Given the description of an element on the screen output the (x, y) to click on. 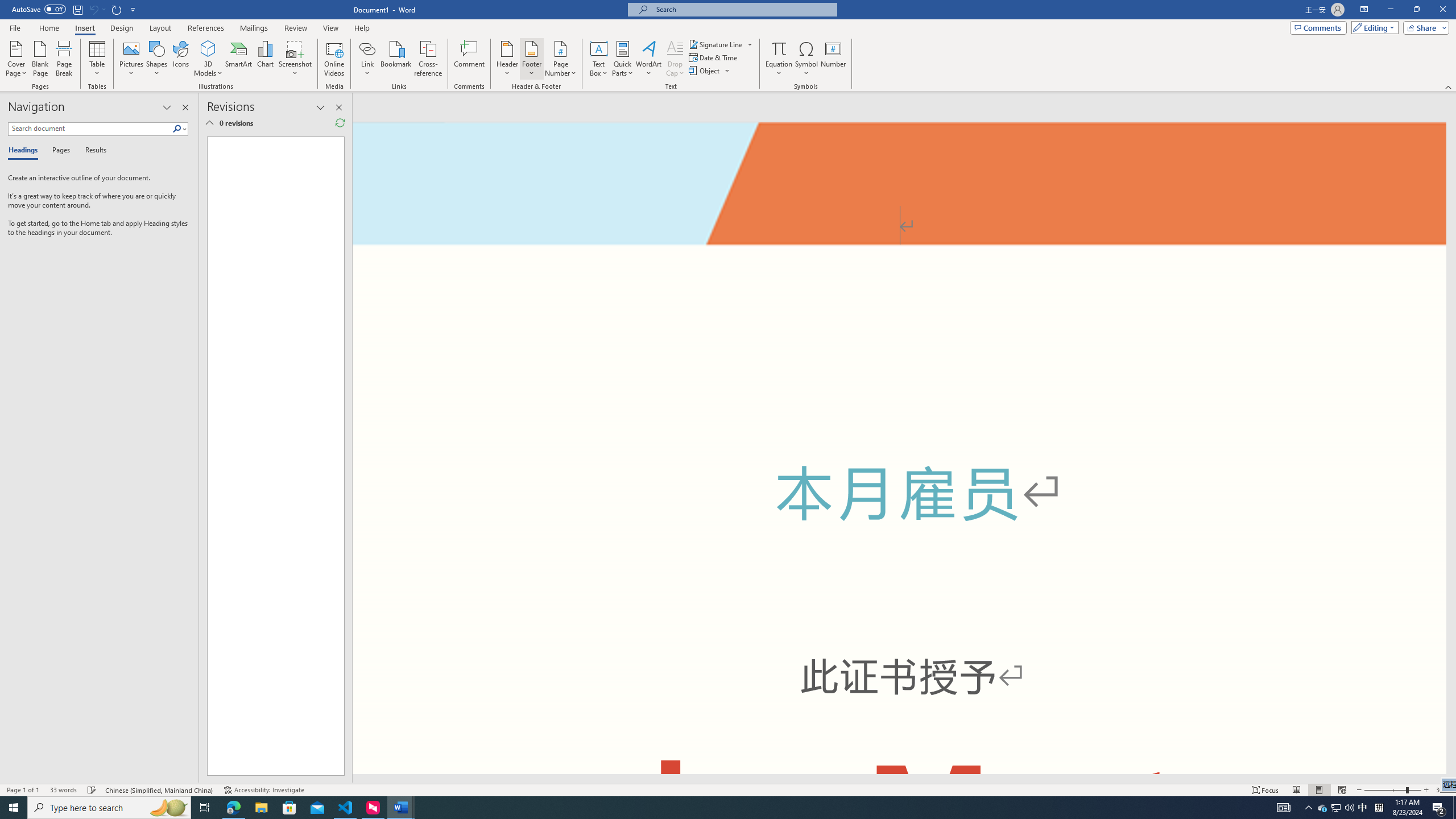
Comment (469, 58)
Footer (531, 58)
Icons (180, 58)
Number... (833, 58)
Drop Cap (674, 58)
